Given the description of an element on the screen output the (x, y) to click on. 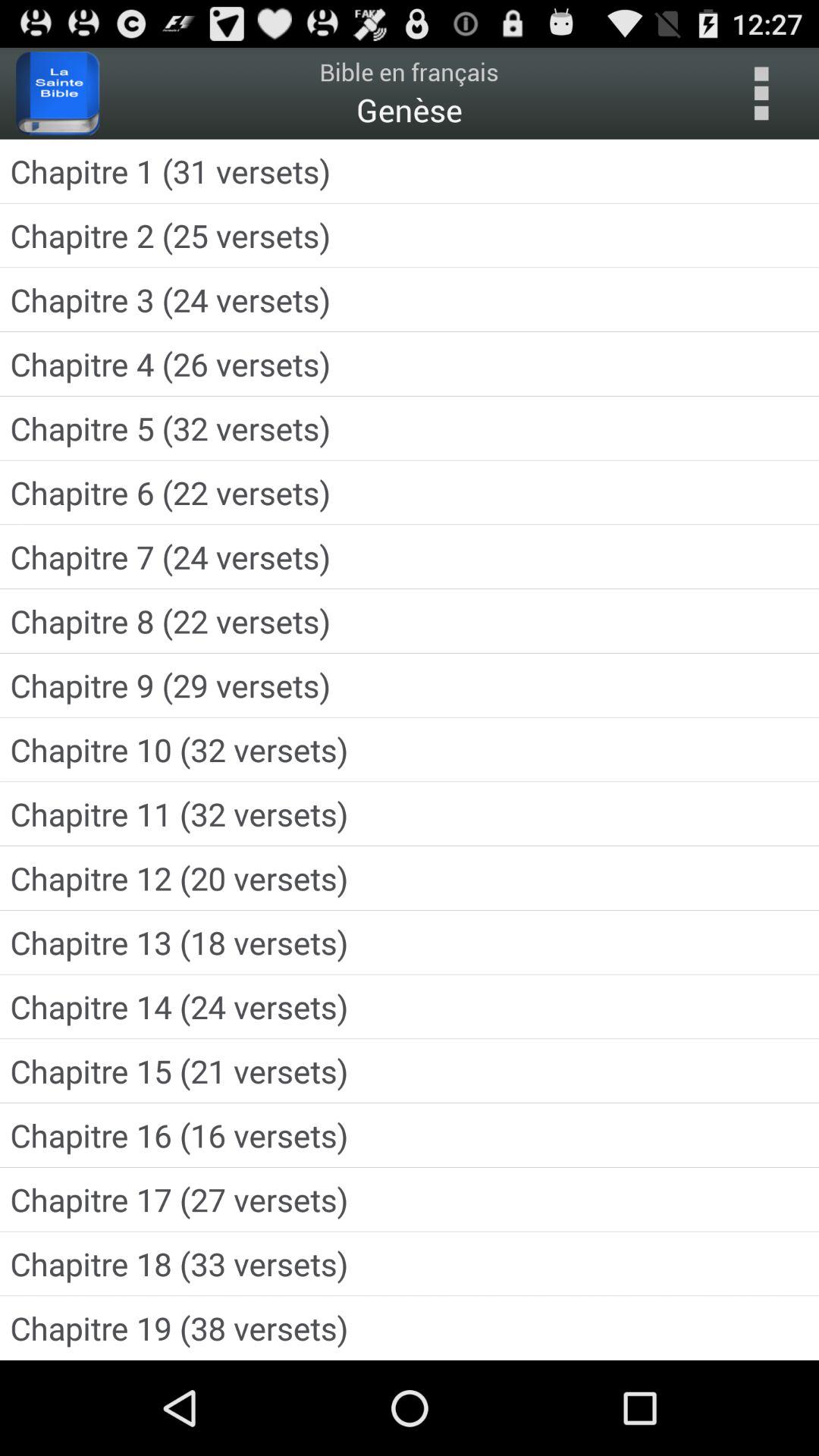
choose the app above the chapitre 2 25 icon (409, 170)
